Given the description of an element on the screen output the (x, y) to click on. 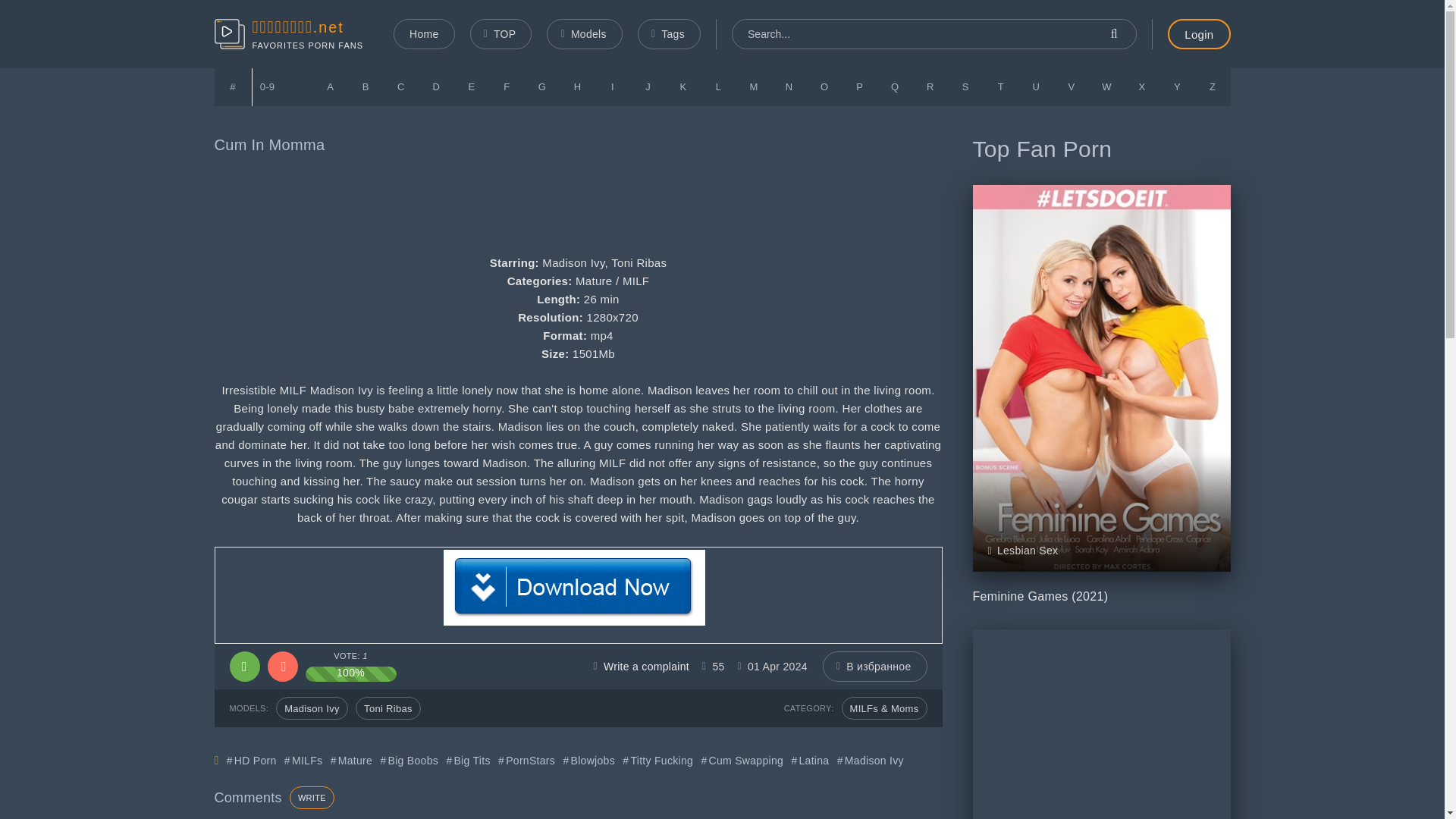
V (1071, 86)
G (542, 86)
C (401, 86)
Tags (668, 33)
Home (423, 33)
S (965, 86)
X (1142, 86)
Models (584, 33)
E (471, 86)
B (365, 86)
TOP (501, 33)
J (647, 86)
L (718, 86)
M (753, 86)
D (436, 86)
